Given the description of an element on the screen output the (x, y) to click on. 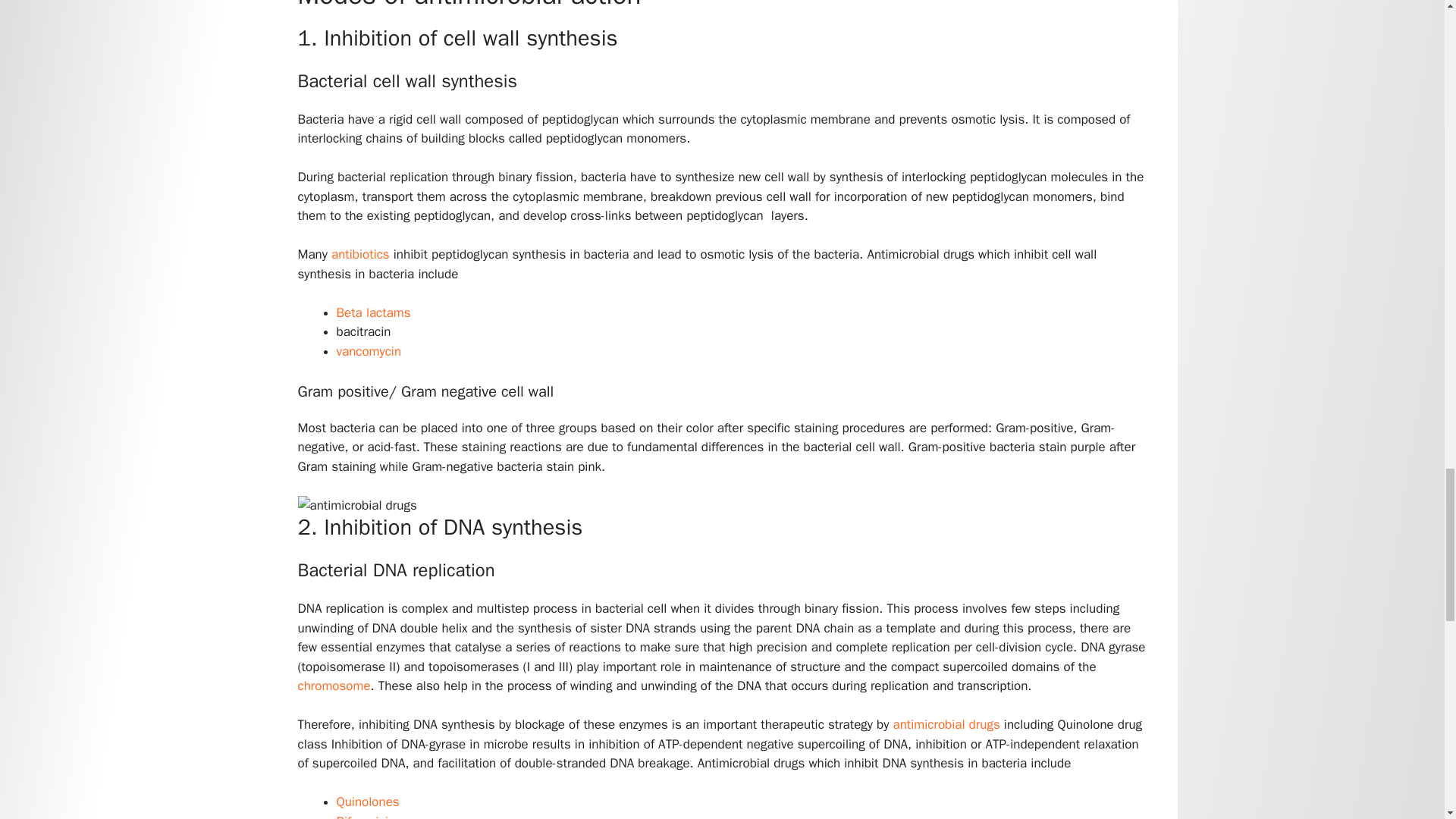
Quinolones (367, 801)
antimicrobial drugs (948, 724)
vancomycin (368, 351)
chromosome (333, 685)
Beta lactams (373, 312)
Rifampicin (365, 816)
antibiotics (362, 254)
